Given the description of an element on the screen output the (x, y) to click on. 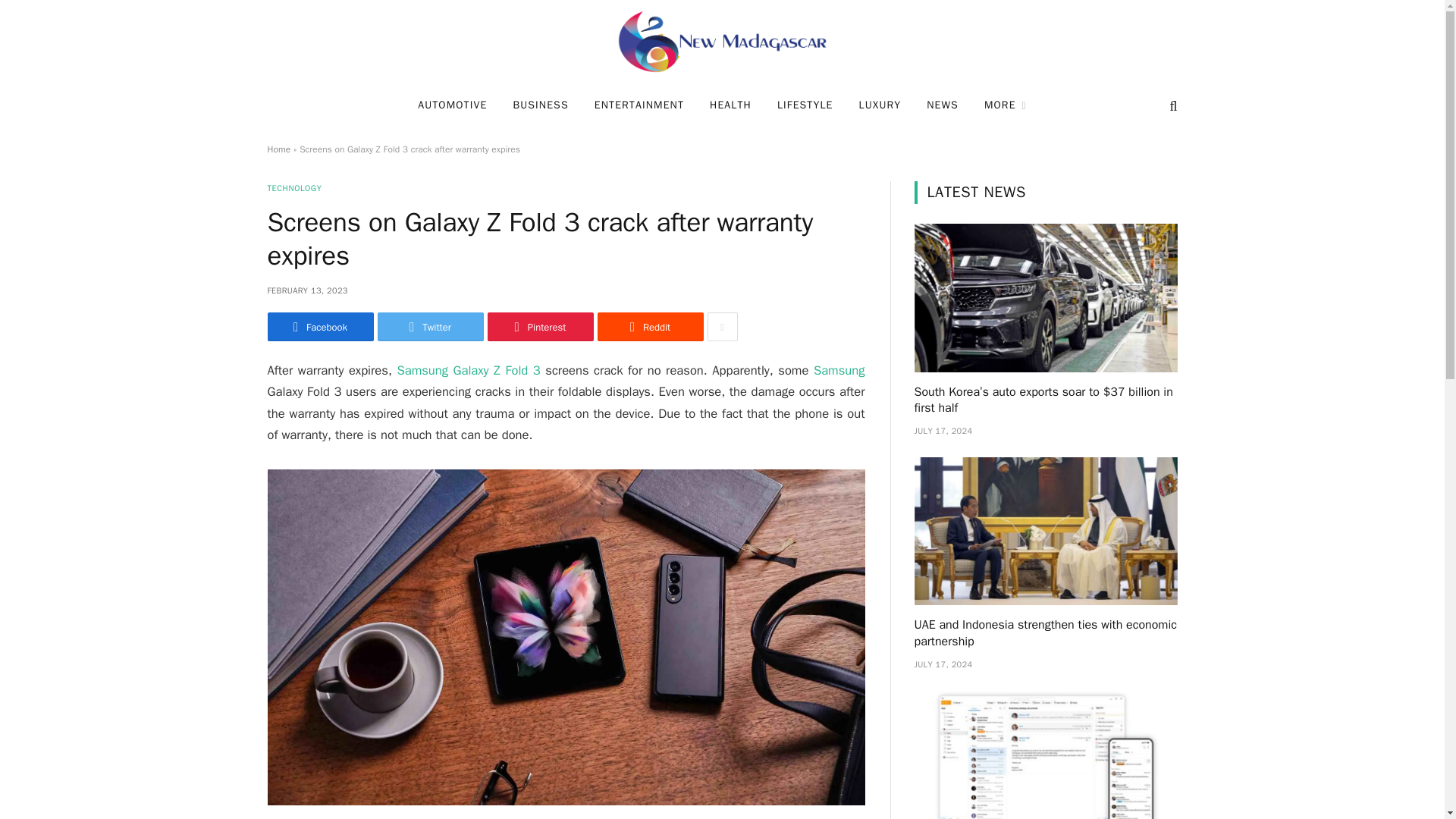
MORE (1005, 105)
Share on Reddit (649, 326)
Twitter (430, 326)
AUTOMOTIVE (451, 105)
Samsung Galaxy Z Fold 3 (468, 370)
NEWS (942, 105)
ENTERTAINMENT (638, 105)
LUXURY (879, 105)
Facebook (319, 326)
Share on Pinterest (539, 326)
LIFESTYLE (804, 105)
Search (1171, 105)
HEALTH (730, 105)
Home (277, 149)
New Madagascar (721, 41)
